Given the description of an element on the screen output the (x, y) to click on. 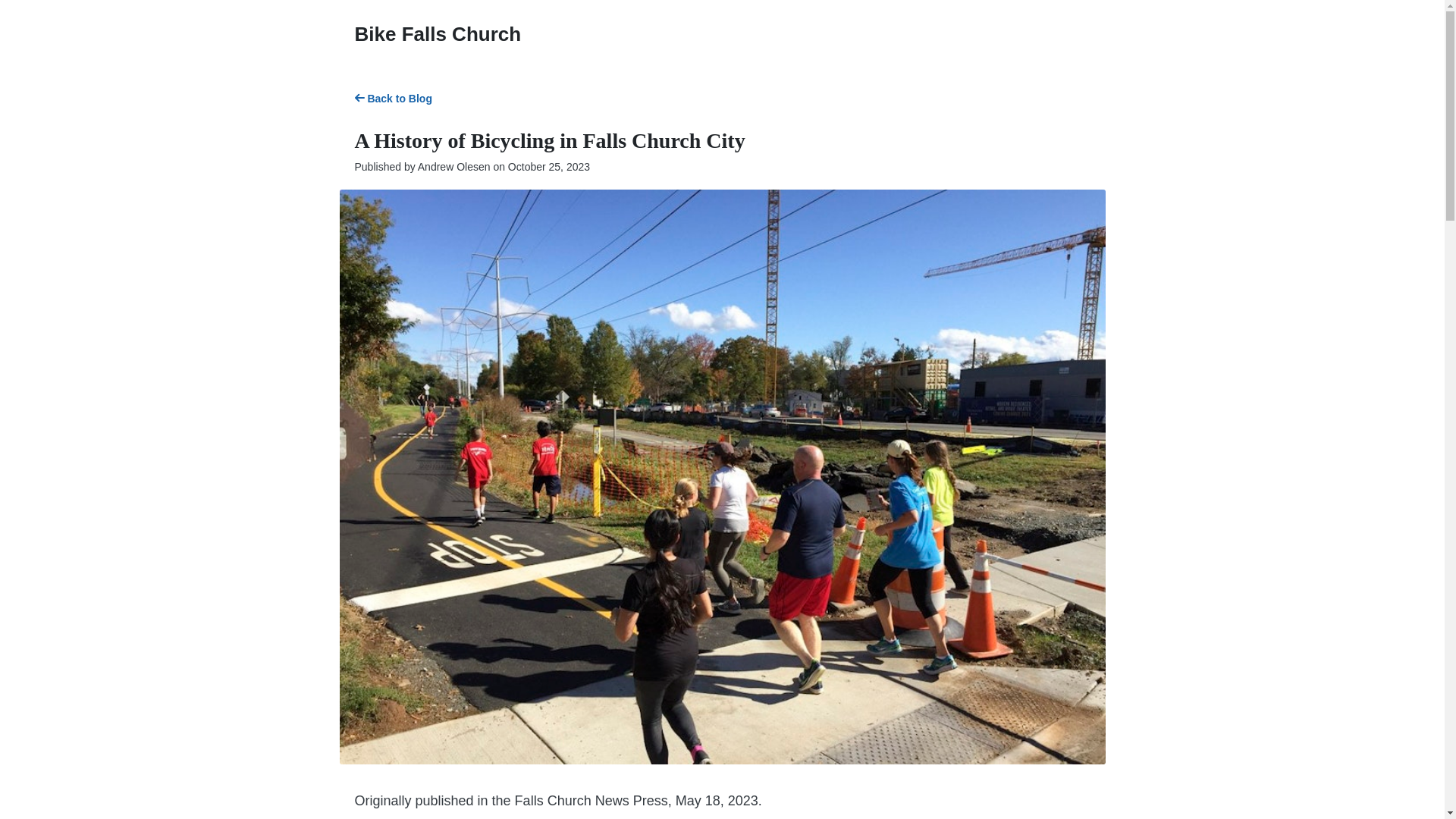
Back to Blog (393, 98)
Bike Falls Church (438, 34)
